Given the description of an element on the screen output the (x, y) to click on. 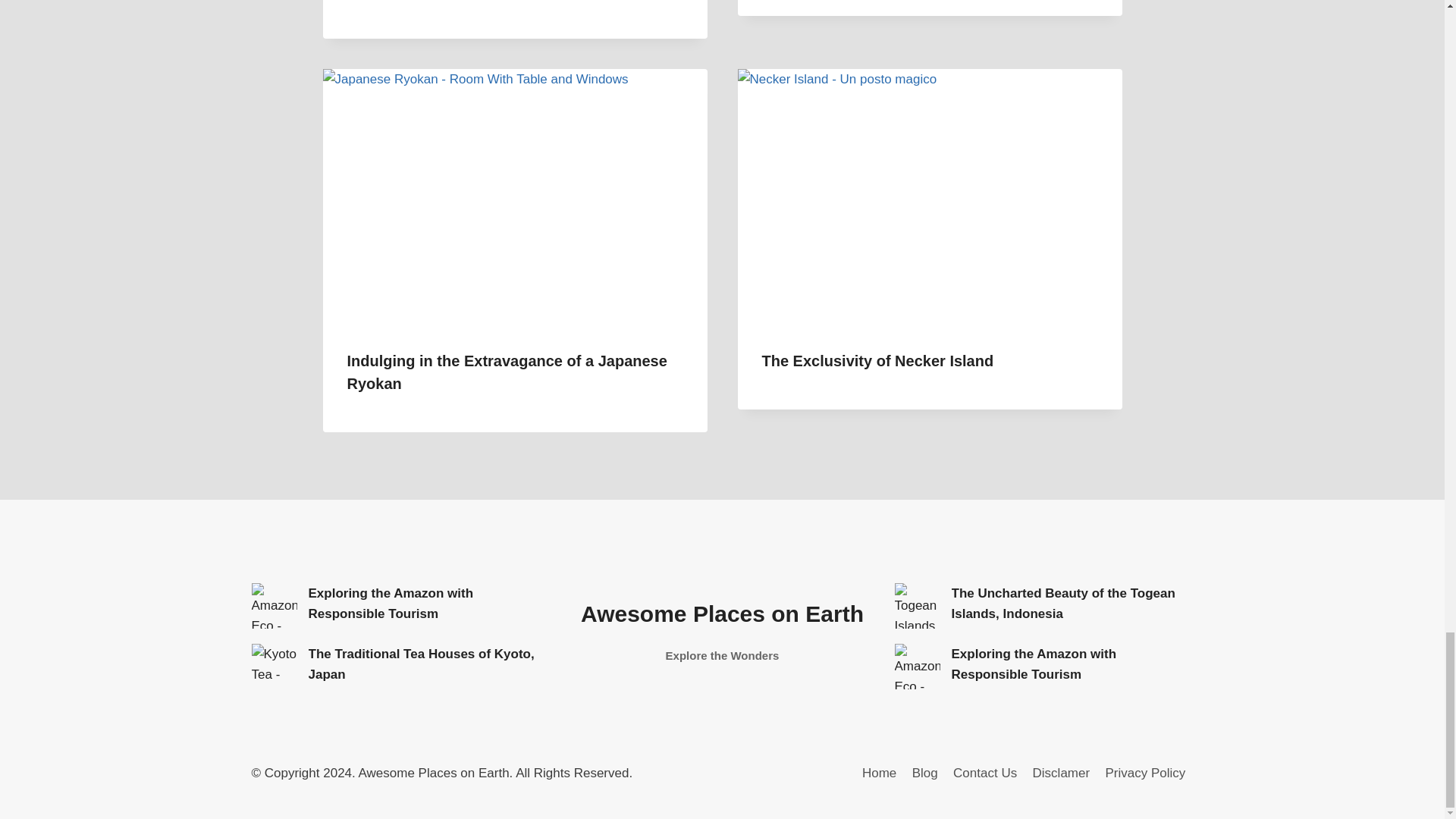
Exploring the Amazon with Responsible Tourism (917, 666)
The Exclusivity of Necker Island (876, 360)
Exploring the Amazon with Responsible Tourism (390, 603)
Indulging in the Extravagance of a Japanese Ryokan (506, 372)
The Uncharted Beauty of the Togean Islands, Indonesia (917, 605)
Exploring the Amazon with Responsible Tourism (274, 605)
The Traditional Tea Houses of Kyoto, Japan (722, 630)
The Traditional Tea Houses of Kyoto, Japan (274, 666)
The Uncharted Beauty of the Togean Islands, Indonesia (420, 664)
